Given the description of an element on the screen output the (x, y) to click on. 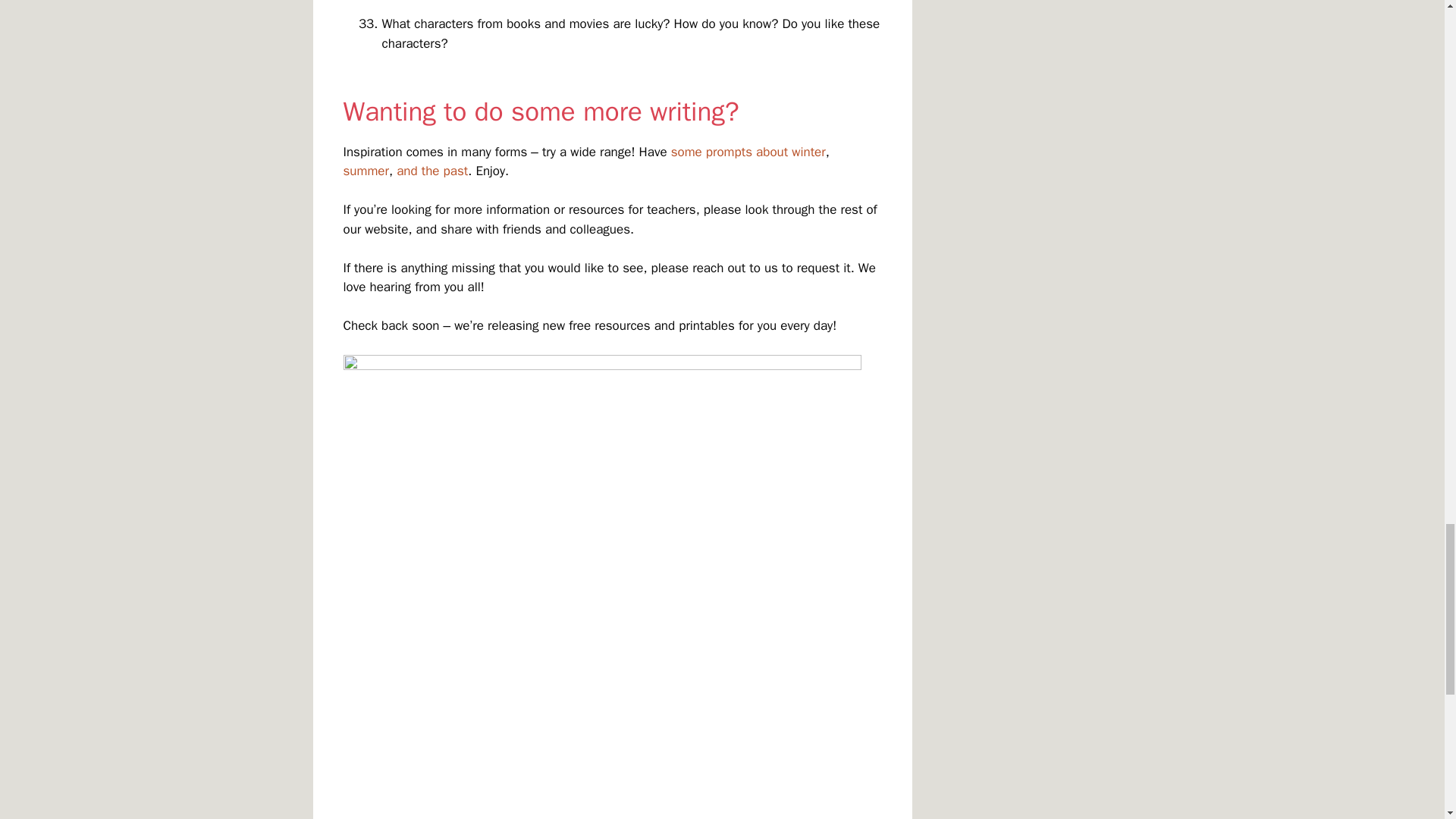
some prompts about winter (748, 151)
and the past (431, 170)
summer (365, 170)
